Given the description of an element on the screen output the (x, y) to click on. 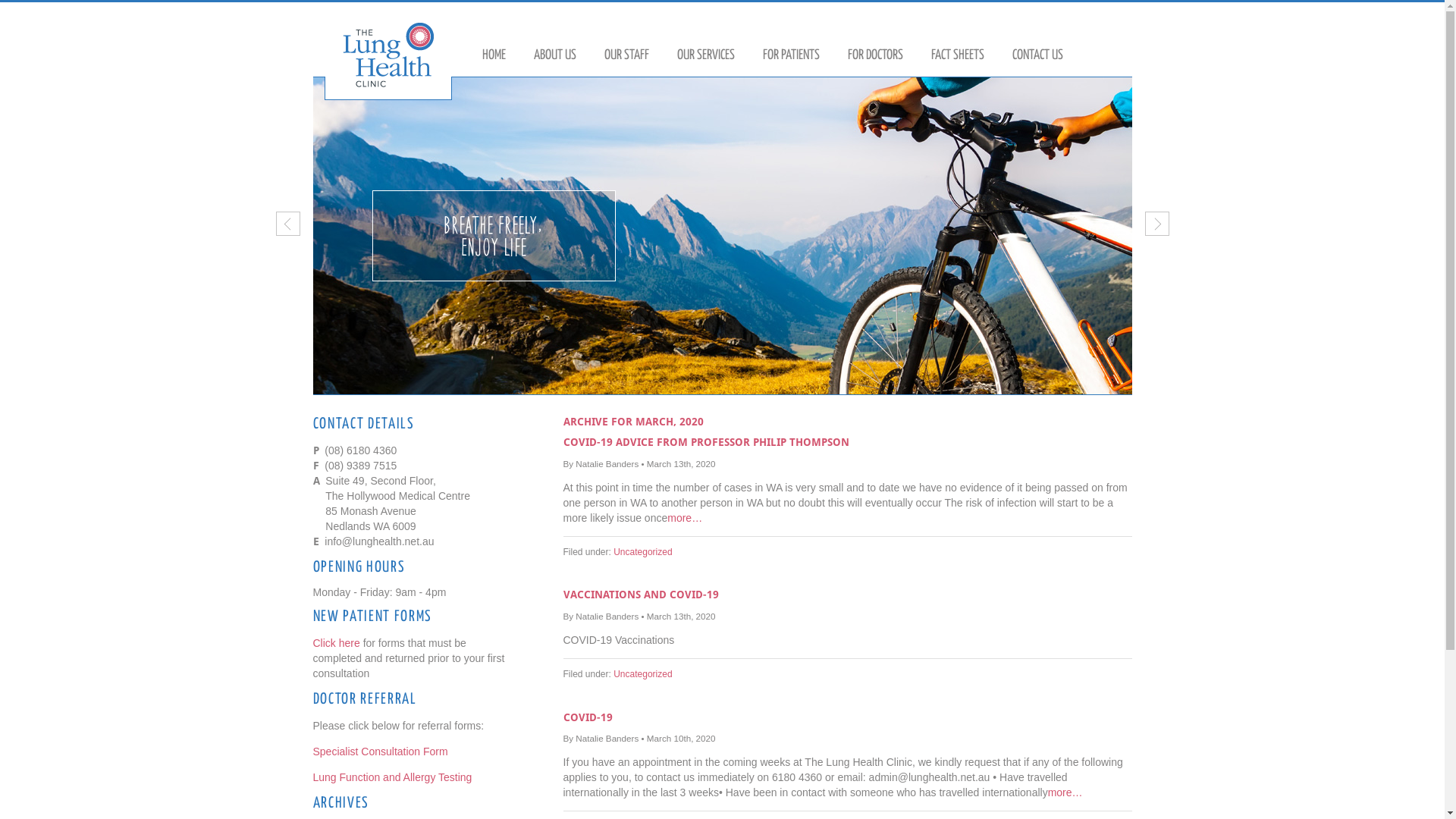
HOME Element type: text (493, 55)
Specialist Consultation Form Element type: text (379, 751)
OUR SERVICES Element type: text (705, 55)
FOR PATIENTS Element type: text (791, 55)
FOR DOCTORS Element type: text (875, 55)
ABOUT US Element type: text (554, 55)
OUR STAFF Element type: text (626, 55)
Click here Element type: text (335, 643)
COVID-19 Element type: text (586, 717)
Uncategorized Element type: text (642, 551)
CONTACT US Element type: text (1037, 55)
FACT SHEETS Element type: text (957, 55)
Uncategorized Element type: text (642, 673)
VACCINATIONS AND COVID-19 Element type: text (640, 594)
COVID-19 ADVICE FROM PROFESSOR PHILIP THOMPSON Element type: text (705, 442)
Lung Function and Allergy Testing Element type: text (391, 777)
